Given the description of an element on the screen output the (x, y) to click on. 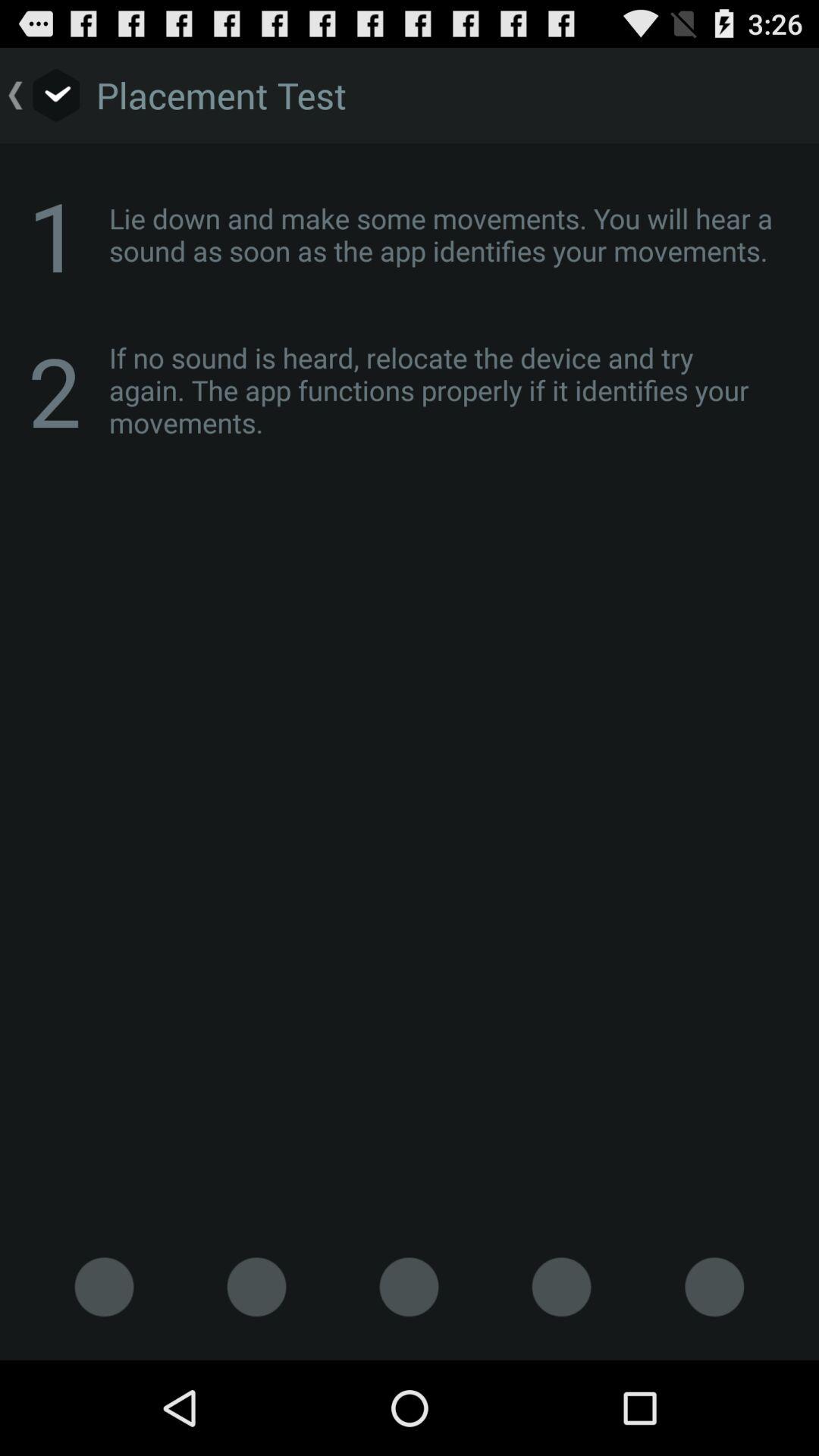
click on circle button at bottom right corner (714, 1286)
click on second circle button from the bottom left corner (256, 1286)
